Given the description of an element on the screen output the (x, y) to click on. 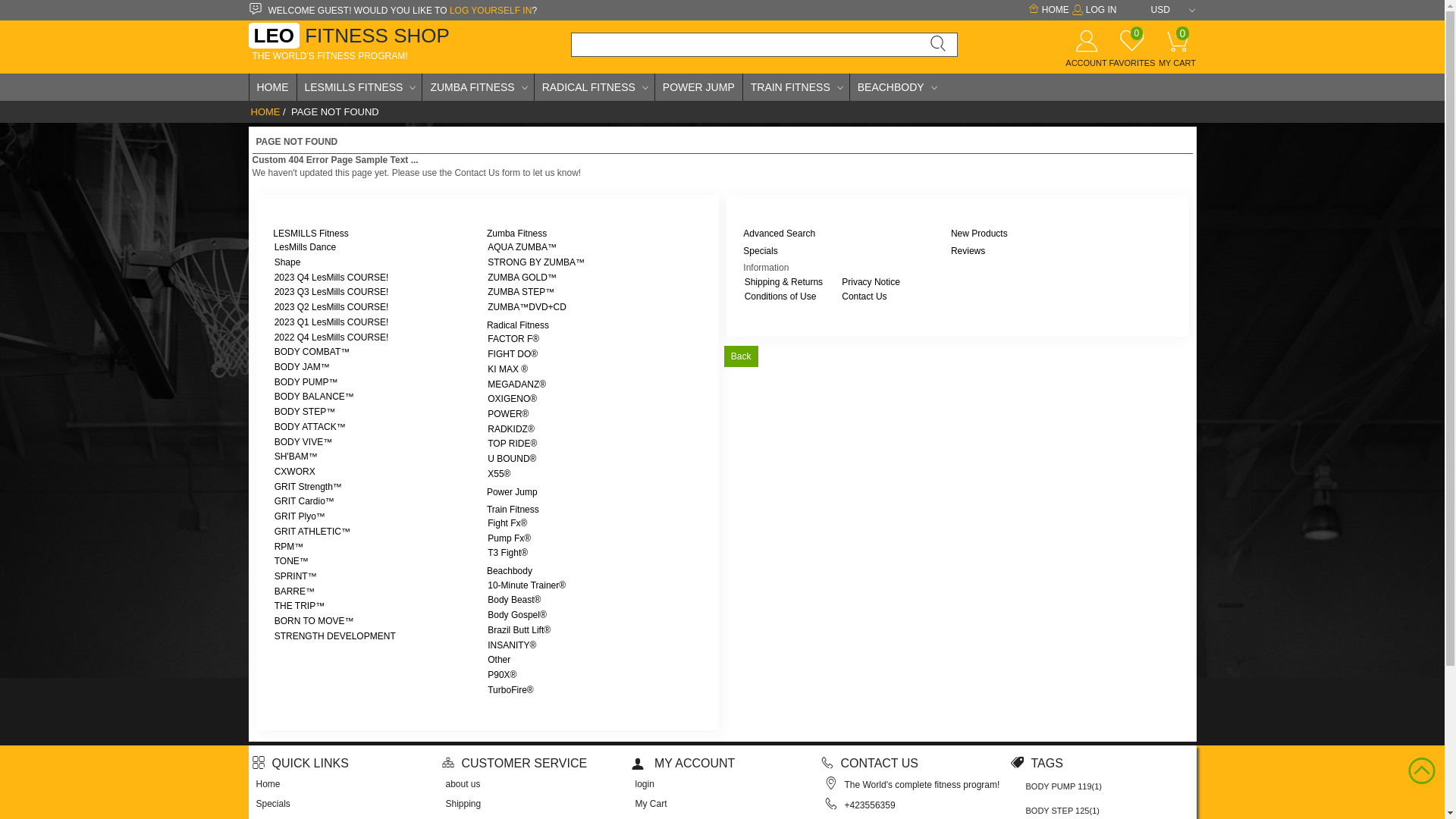
HOME Element type: text (1047, 9)
STRENGTH DEVELOPMENT Element type: text (334, 635)
LesMills Dance Element type: text (304, 246)
2023 Q4 LesMills COURSE! Element type: text (331, 277)
My Cart Element type: text (651, 803)
ZUMBA FITNESS Element type: text (477, 86)
about us Element type: text (462, 783)
Power Jump Element type: text (511, 491)
ACCOUNT Element type: text (1085, 54)
BEACHBODY Element type: text (896, 86)
QUICK LINKS Element type: text (299, 762)
TRAIN FITNESS Element type: text (796, 86)
LESMILLS Fitness Element type: text (310, 233)
LESMILLS FITNESS Element type: text (359, 86)
MY ACCOUNT Element type: text (682, 762)
LOG YOURSELF IN Element type: text (490, 10)
2022 Q4 LesMills COURSE! Element type: text (331, 337)
Shipping & Returns Element type: text (783, 281)
Other Element type: text (498, 659)
Privacy Notice Element type: text (870, 281)
Shape Element type: text (287, 262)
CONTACT US Element type: text (869, 762)
2023 Q2 LesMills COURSE! Element type: text (331, 306)
BODY PUMP 119(1) Element type: text (1063, 786)
 Back  Element type: text (740, 356)
Beachbody Element type: text (509, 570)
TAGS Element type: text (1036, 762)
CXWORX Element type: text (294, 471)
Specials Element type: text (760, 250)
CUSTOMER SERVICE Element type: text (513, 762)
Shipping Element type: text (463, 803)
Conditions of Use Element type: text (780, 296)
2023 Q1 LesMills COURSE! Element type: text (331, 321)
HOME Element type: text (271, 86)
2023 Q3 LesMills COURSE! Element type: text (331, 291)
Reviews Element type: text (967, 250)
Advanced Search Element type: text (779, 233)
Contact Us Element type: text (863, 296)
Zumba Fitness Element type: text (516, 233)
HOME Element type: text (264, 111)
RADICAL FITNESS Element type: text (594, 86)
login Element type: text (644, 783)
Train Fitness Element type: text (512, 509)
New Products Element type: text (978, 233)
LOG IN Element type: text (1093, 9)
POWER JUMP Element type: text (698, 86)
Specials Element type: text (273, 803)
Home Element type: text (268, 783)
FAVORITES
0 Element type: text (1131, 54)
Radical Fitness Element type: text (517, 325)
MY CART Element type: text (1176, 54)
